Given the description of an element on the screen output the (x, y) to click on. 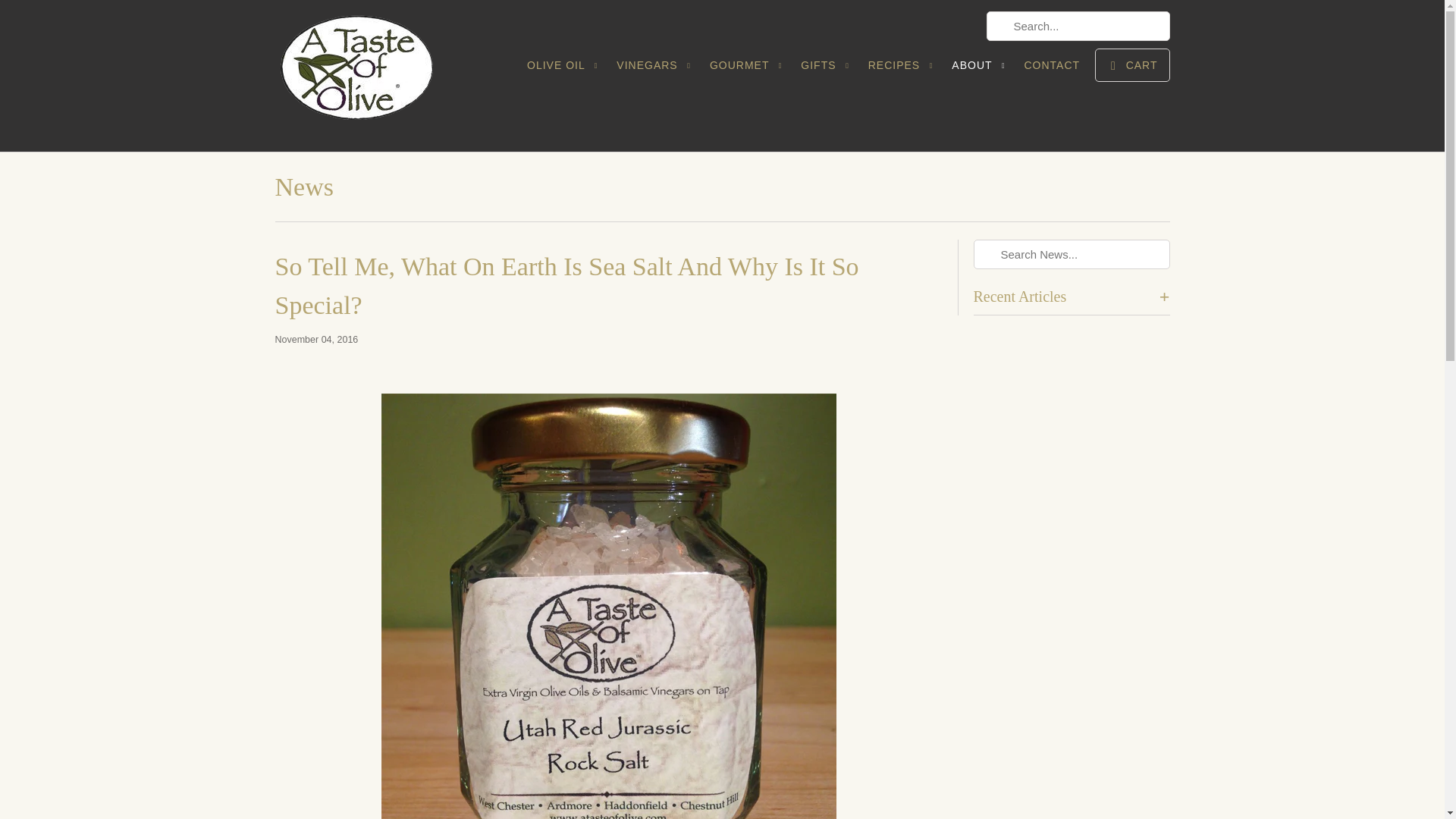
ABOUT (980, 69)
OLIVE OIL (564, 69)
News (304, 186)
A Taste of Olive (380, 75)
GIFTS (825, 69)
Cart (1131, 64)
VINEGARS (654, 69)
CONTACT (1051, 68)
RECIPES (901, 69)
GOURMET (748, 69)
